Given the description of an element on the screen output the (x, y) to click on. 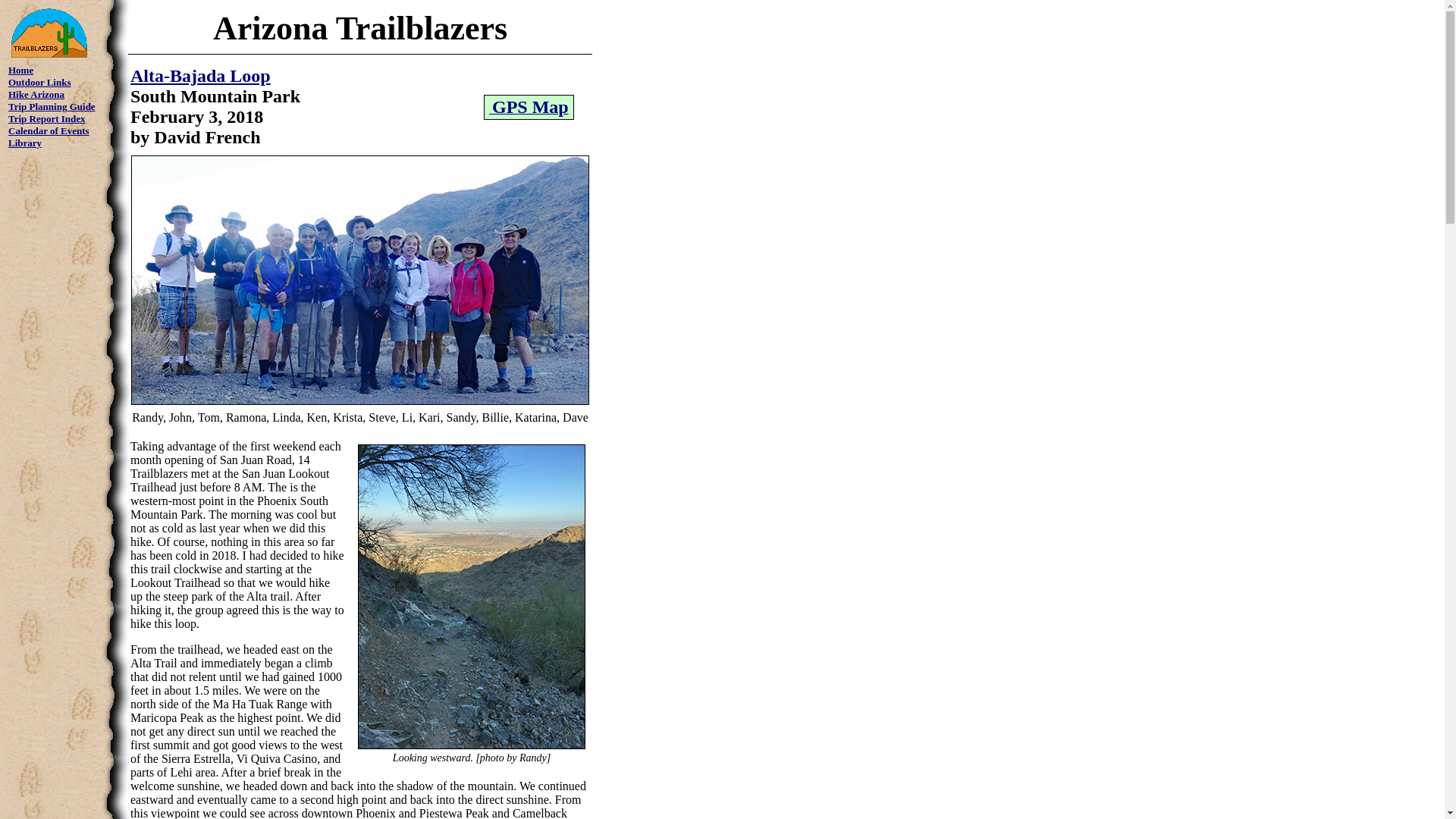
Trip Report Index (46, 118)
Alta-Bajada Loop (200, 75)
Calendar of Events (48, 130)
Hike Arizona (36, 93)
Trip Planning Guide (52, 106)
Library (25, 142)
Outdoor Links (39, 81)
GPS Map (529, 107)
Home (20, 70)
